Given the description of an element on the screen output the (x, y) to click on. 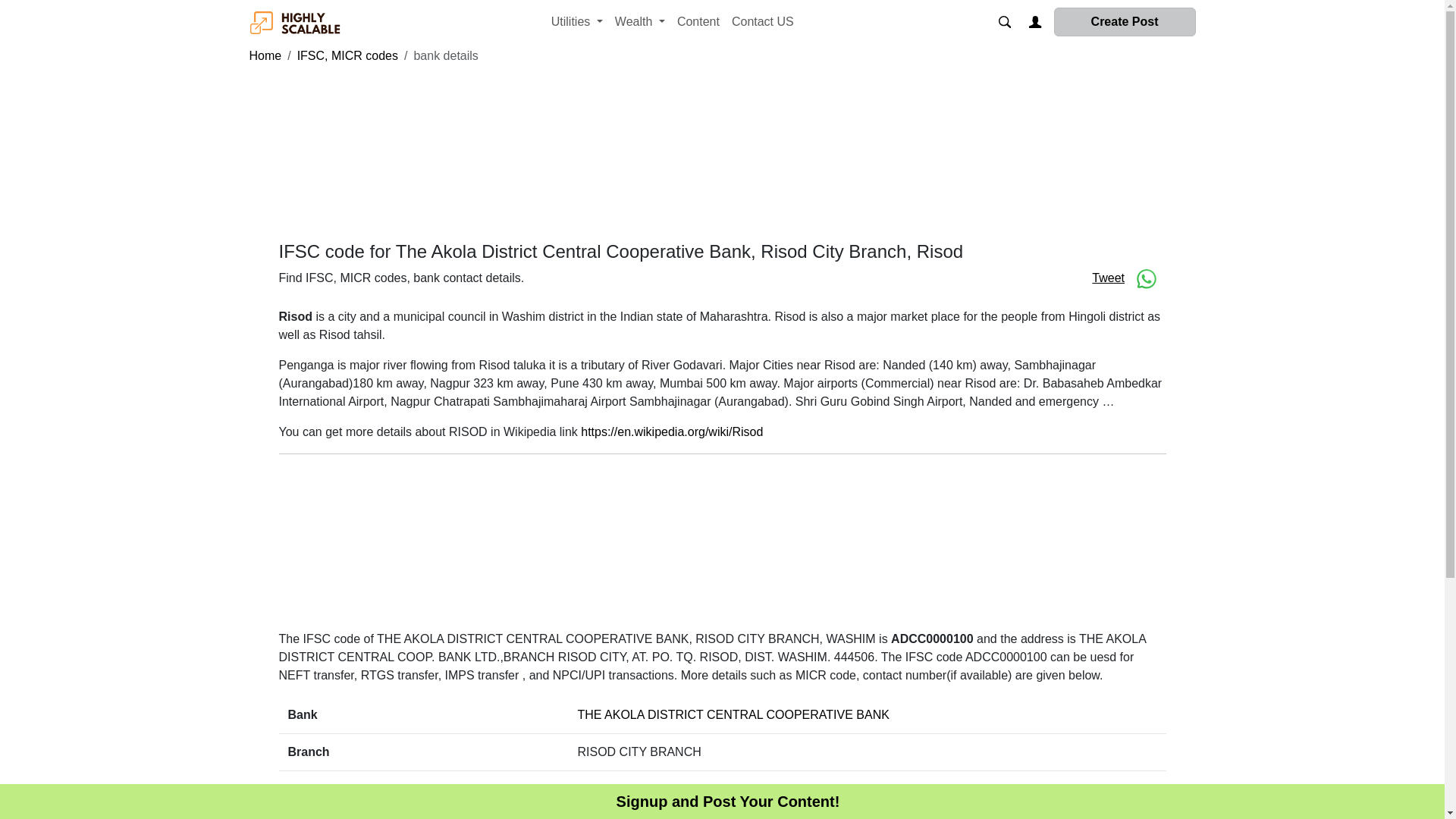
Home (264, 55)
Create Post (1124, 21)
Contact US (762, 21)
IFSC, MICR codes (347, 55)
THE AKOLA DISTRICT CENTRAL COOPERATIVE BANK (733, 714)
Tweet (1108, 277)
Sticky footer container (727, 801)
Utilities (576, 21)
Signup and Post Your Content! (727, 801)
Wealth (639, 21)
Content (698, 21)
